Given the description of an element on the screen output the (x, y) to click on. 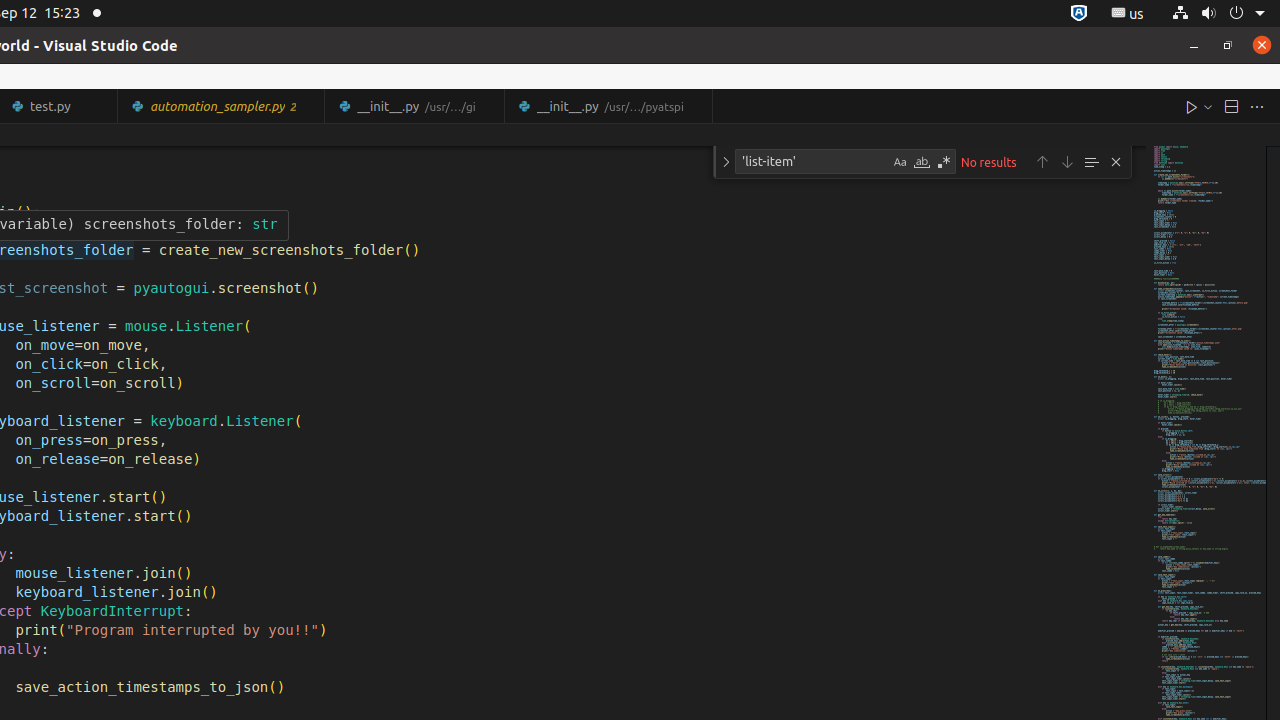
Run Python File Element type: push-button (1192, 106)
Previous Match (Shift+Enter) Element type: push-button (1042, 161)
